Given the description of an element on the screen output the (x, y) to click on. 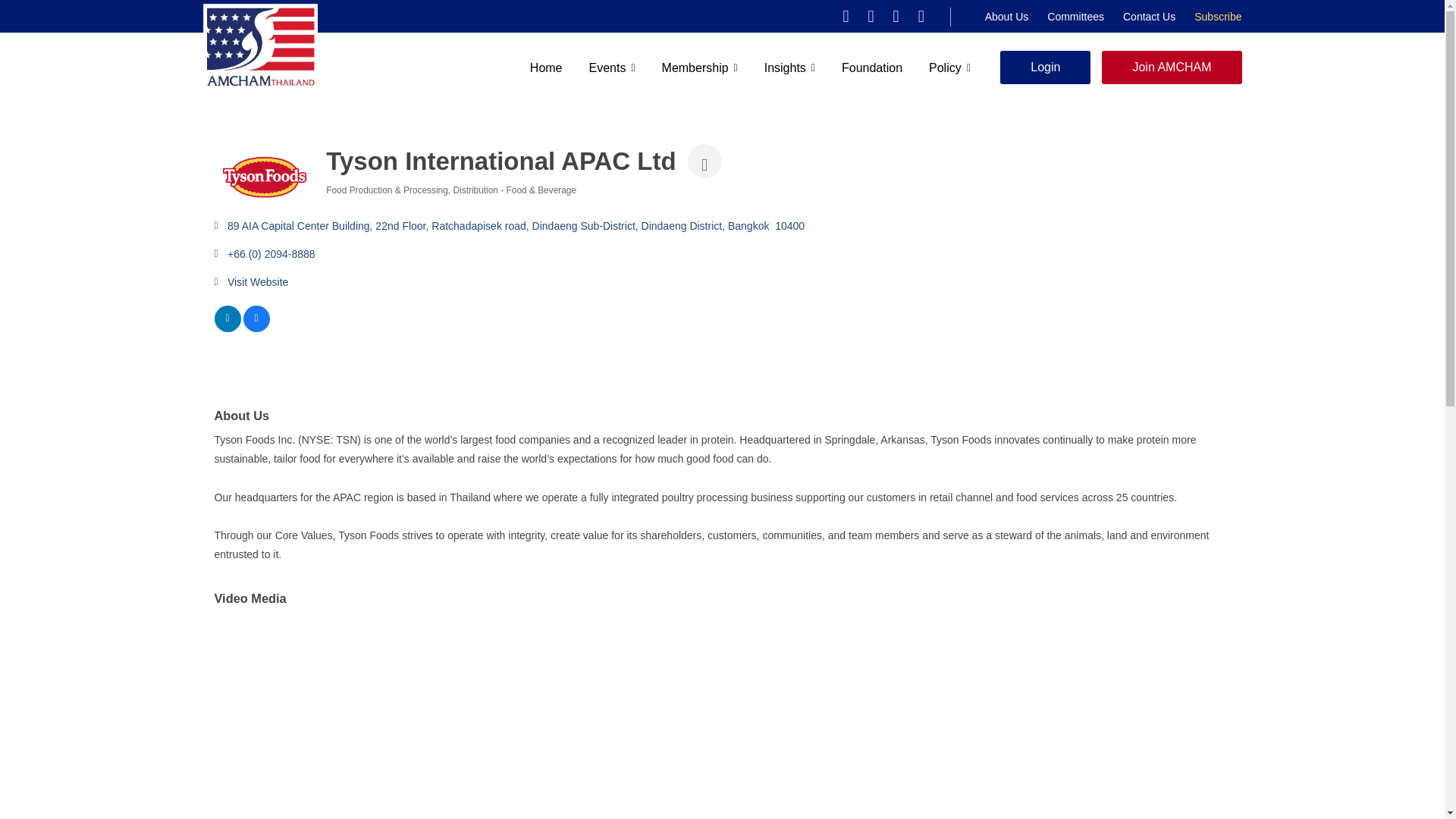
Events (611, 67)
Home (545, 67)
View on Facebook (256, 328)
Login (1045, 67)
Tyson International APAC Ltd (264, 176)
Committees (1074, 16)
Contact Us (1148, 16)
Foundation (871, 67)
Join AMCHAM (1171, 67)
Subscribe (1217, 16)
About Us (1007, 16)
View on LinkedIn (227, 328)
Insights (789, 67)
Membership (700, 67)
Policy (949, 67)
